Given the description of an element on the screen output the (x, y) to click on. 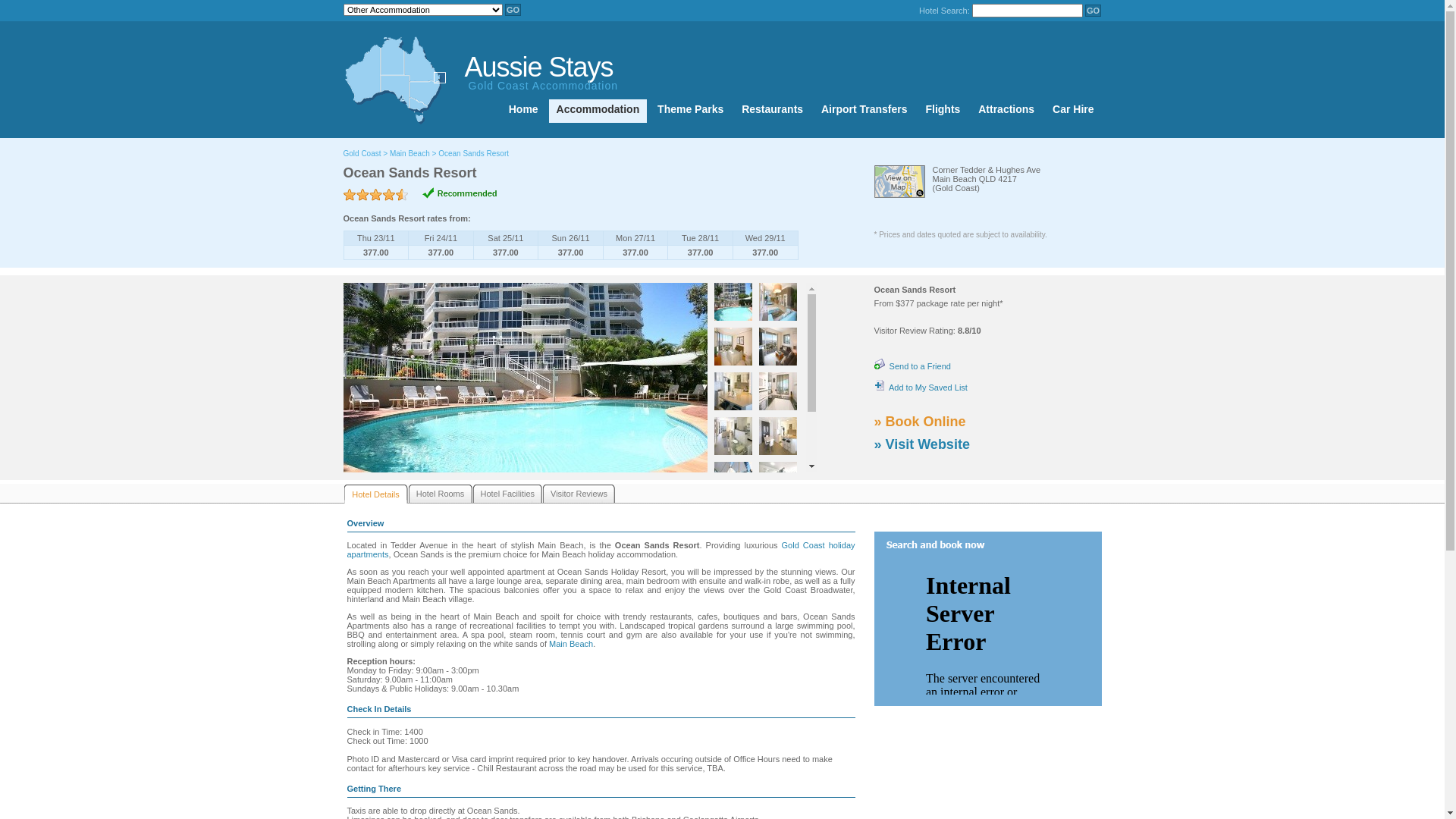
Home Element type: text (523, 110)
Visitor Reviews Element type: text (578, 493)
Car Hire Element type: text (1072, 110)
Theme Parks Element type: text (690, 110)
Main Beach Element type: text (409, 153)
Accommodation Element type: text (598, 110)
Send to a Friend Element type: text (911, 365)
Gold Coast holiday apartments Element type: text (601, 549)
Airport Transfers Element type: text (864, 110)
GO Element type: text (1093, 10)
Main Beach Element type: text (571, 643)
Restaurants Element type: text (772, 110)
Flights Element type: text (942, 110)
Hotel Details Element type: text (375, 493)
GO Element type: text (512, 9)
Hotel Facilities Element type: text (507, 493)
Hotel Rooms Element type: text (439, 493)
Add to My Saved List Element type: text (919, 387)
Gold Coast Element type: text (361, 153)
Ocean Sands Resort Element type: text (473, 153)
Attractions Element type: text (1005, 110)
